Given the description of an element on the screen output the (x, y) to click on. 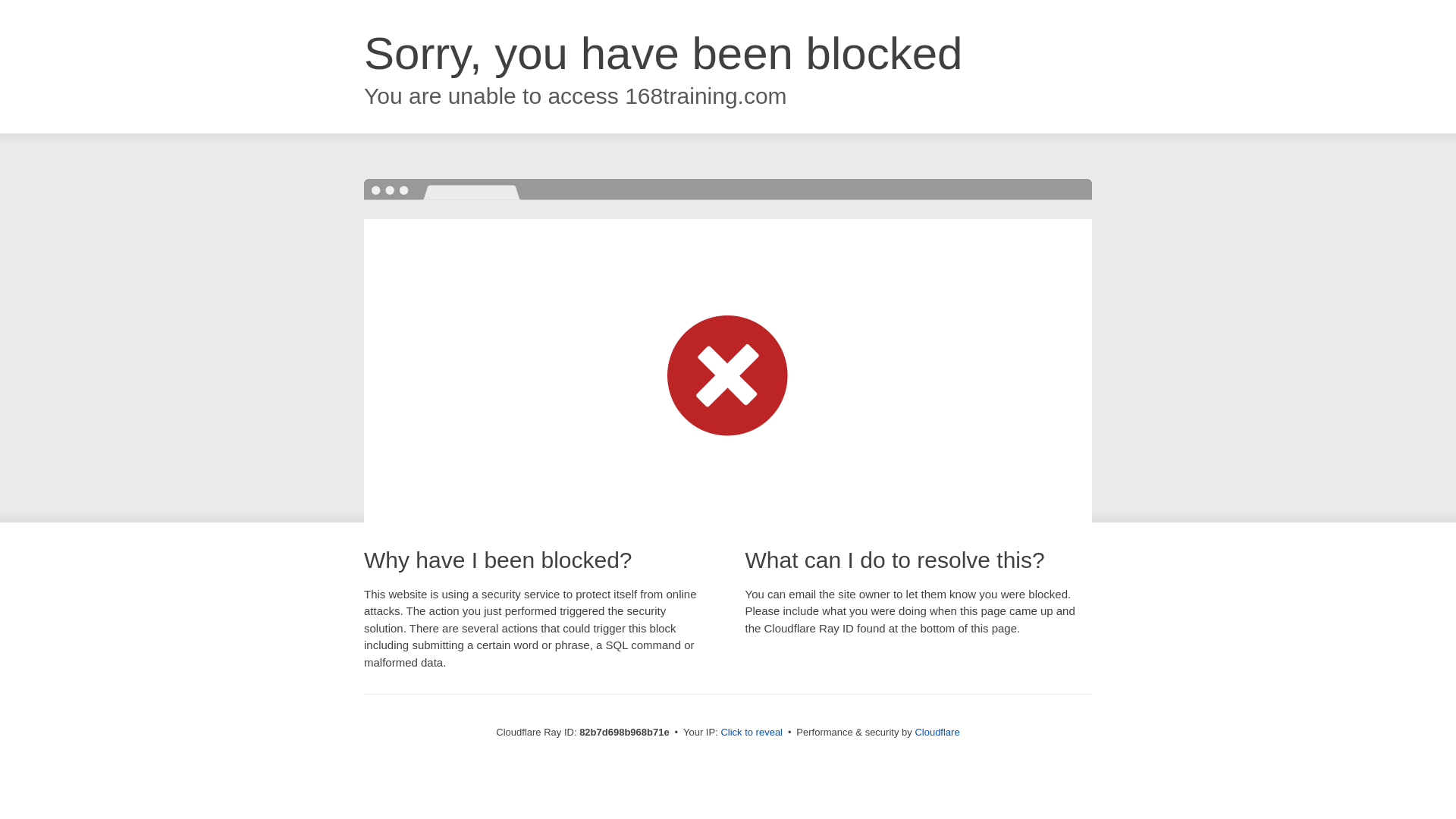
Click to reveal Element type: text (751, 732)
Cloudflare Element type: text (936, 731)
